Given the description of an element on the screen output the (x, y) to click on. 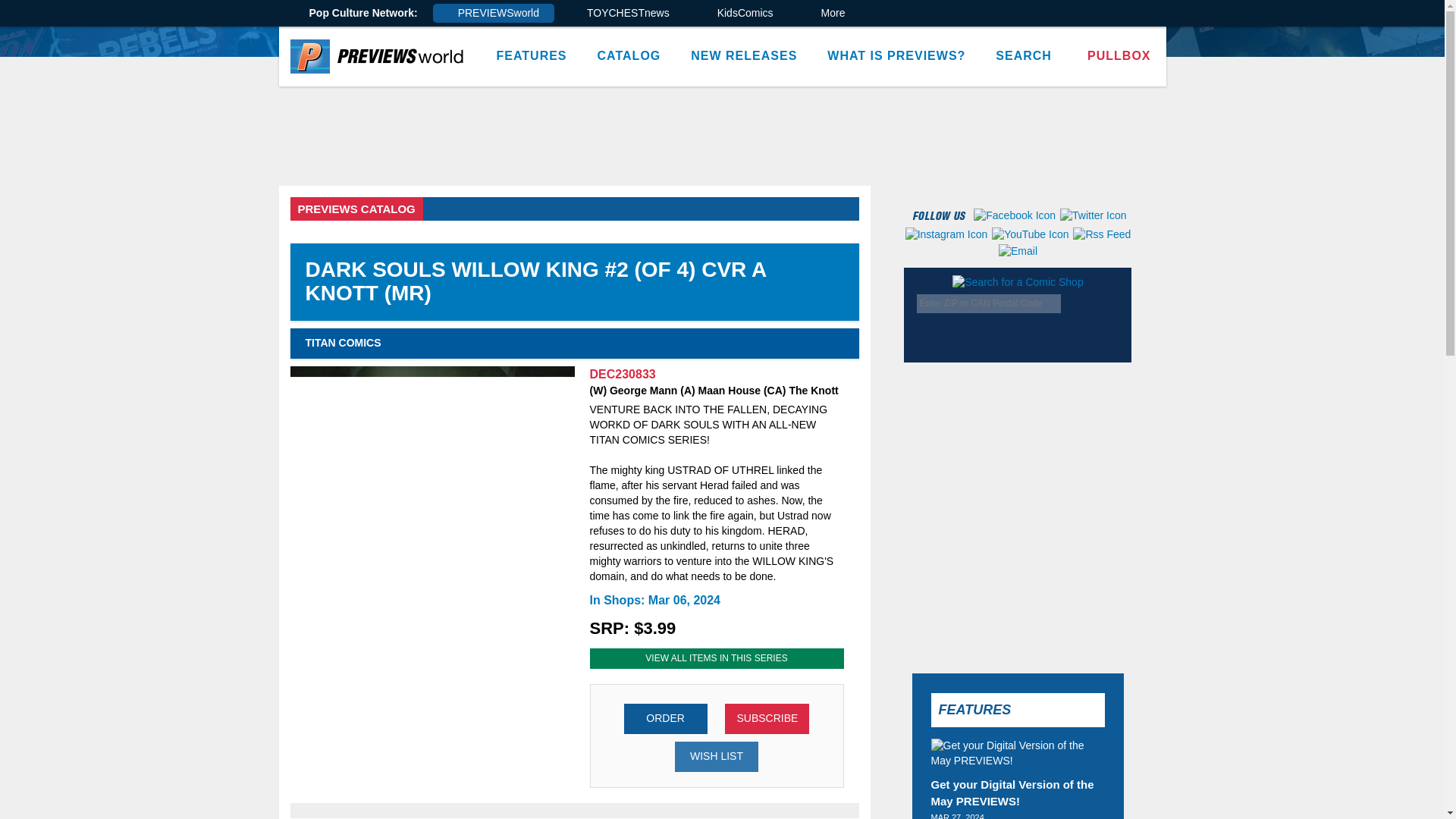
Email Address Input for Newsletter Signup (1030, 434)
FEATURES (530, 55)
Enter ZIP or CAN Postal Code (989, 303)
KidsComics (741, 13)
CATALOG (629, 55)
TOYCHESTnews (623, 13)
PREVIEWSworld (493, 13)
More (828, 13)
Join Our NewsLetter (1109, 430)
